Given the description of an element on the screen output the (x, y) to click on. 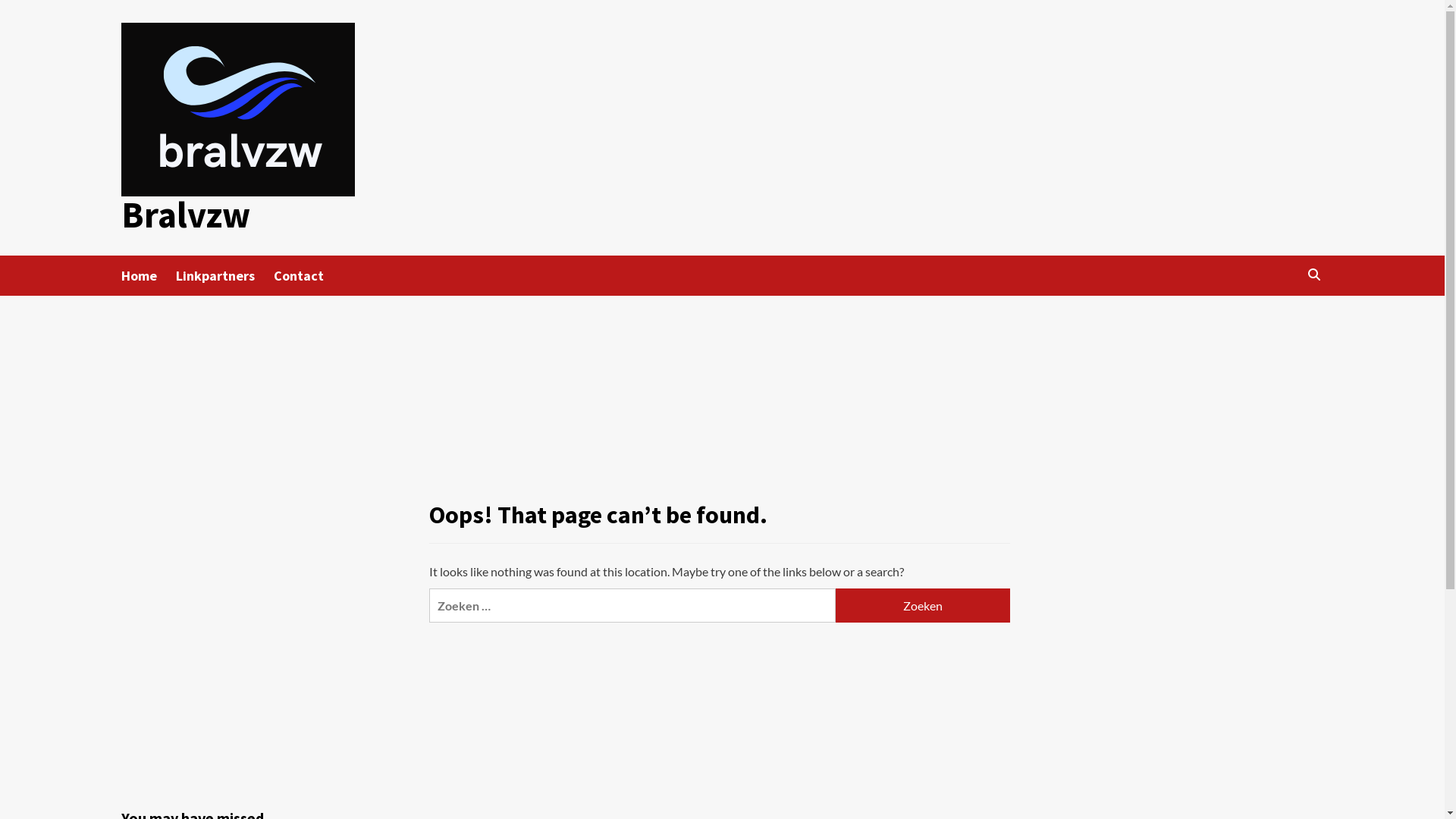
Zoeken Element type: text (922, 605)
Zoeken Element type: text (1278, 321)
Search Element type: hover (1313, 273)
Bralvzw Element type: text (185, 214)
Home Element type: text (148, 275)
Contact Element type: text (307, 275)
Linkpartners Element type: text (224, 275)
